Given the description of an element on the screen output the (x, y) to click on. 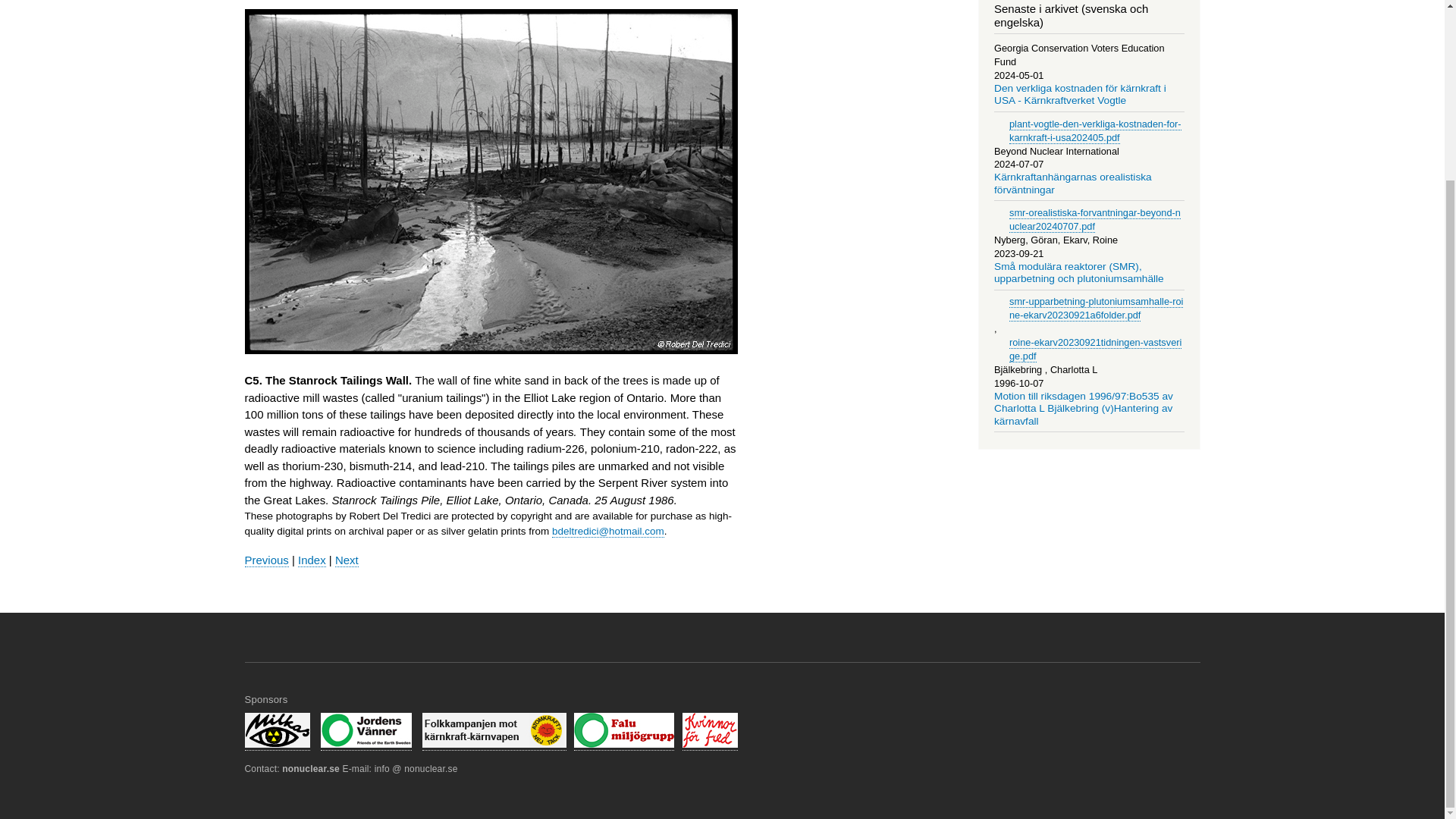
roine-ekarv20230921tidningen-vastsverige.pdf (1094, 349)
Index (312, 560)
smr-orealistiska-forvantningar-beyond-nuclear20240707.pdf (1094, 219)
Next (346, 560)
Previous (266, 560)
